Given the description of an element on the screen output the (x, y) to click on. 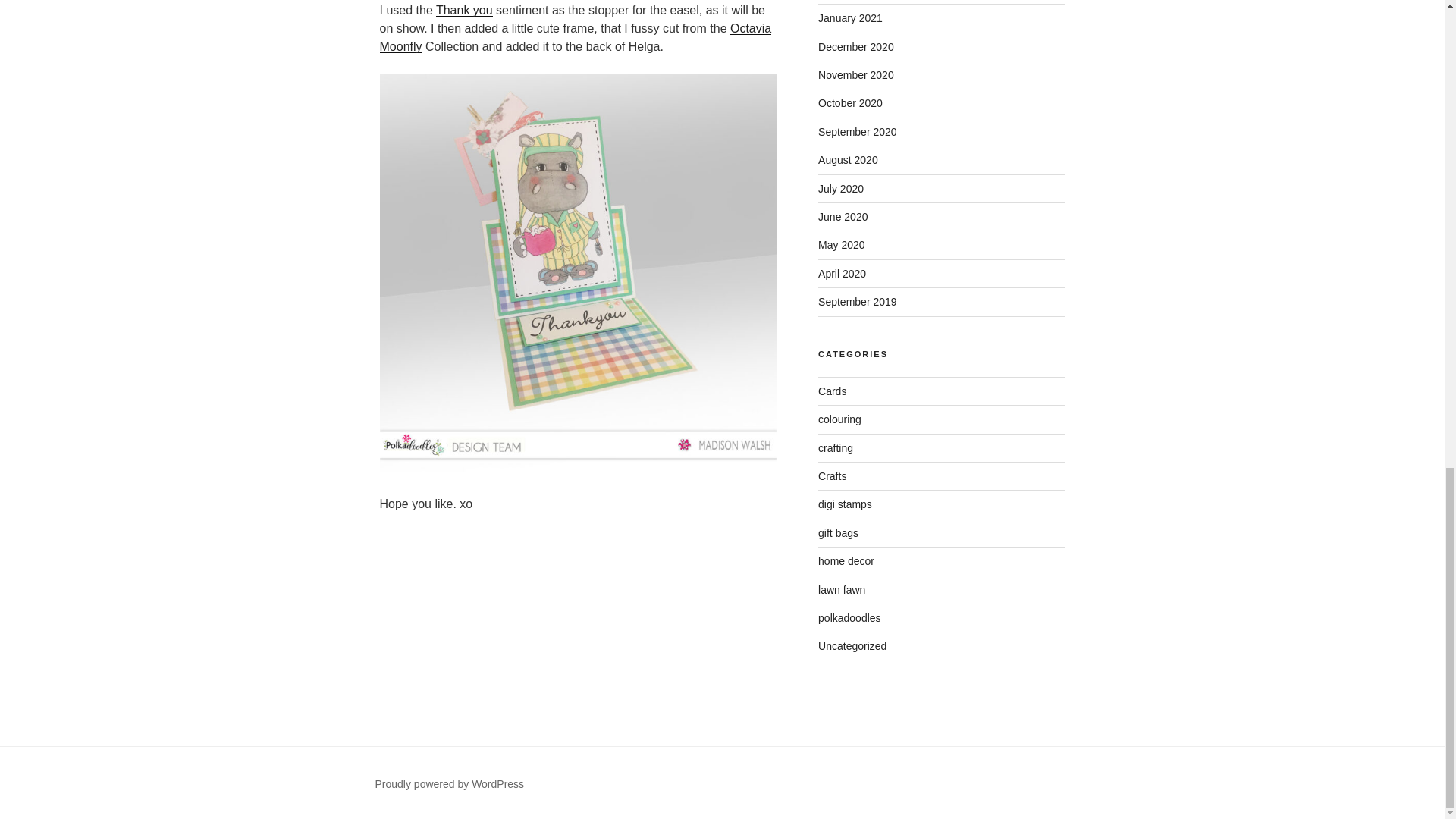
Octavia Moonfly (574, 37)
January 2021 (850, 18)
Thank you (464, 10)
